Given the description of an element on the screen output the (x, y) to click on. 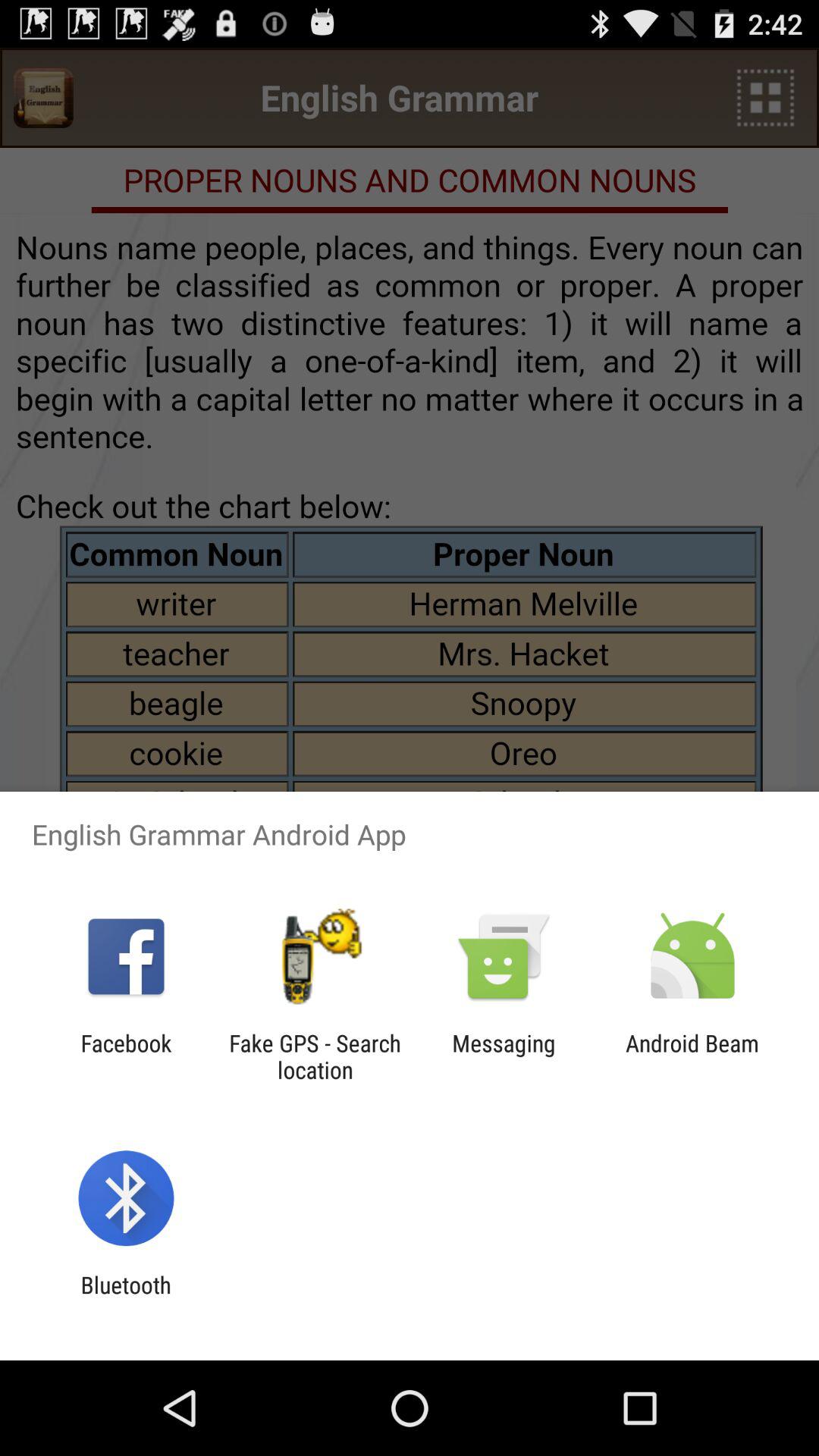
select icon next to the fake gps search item (503, 1056)
